Given the description of an element on the screen output the (x, y) to click on. 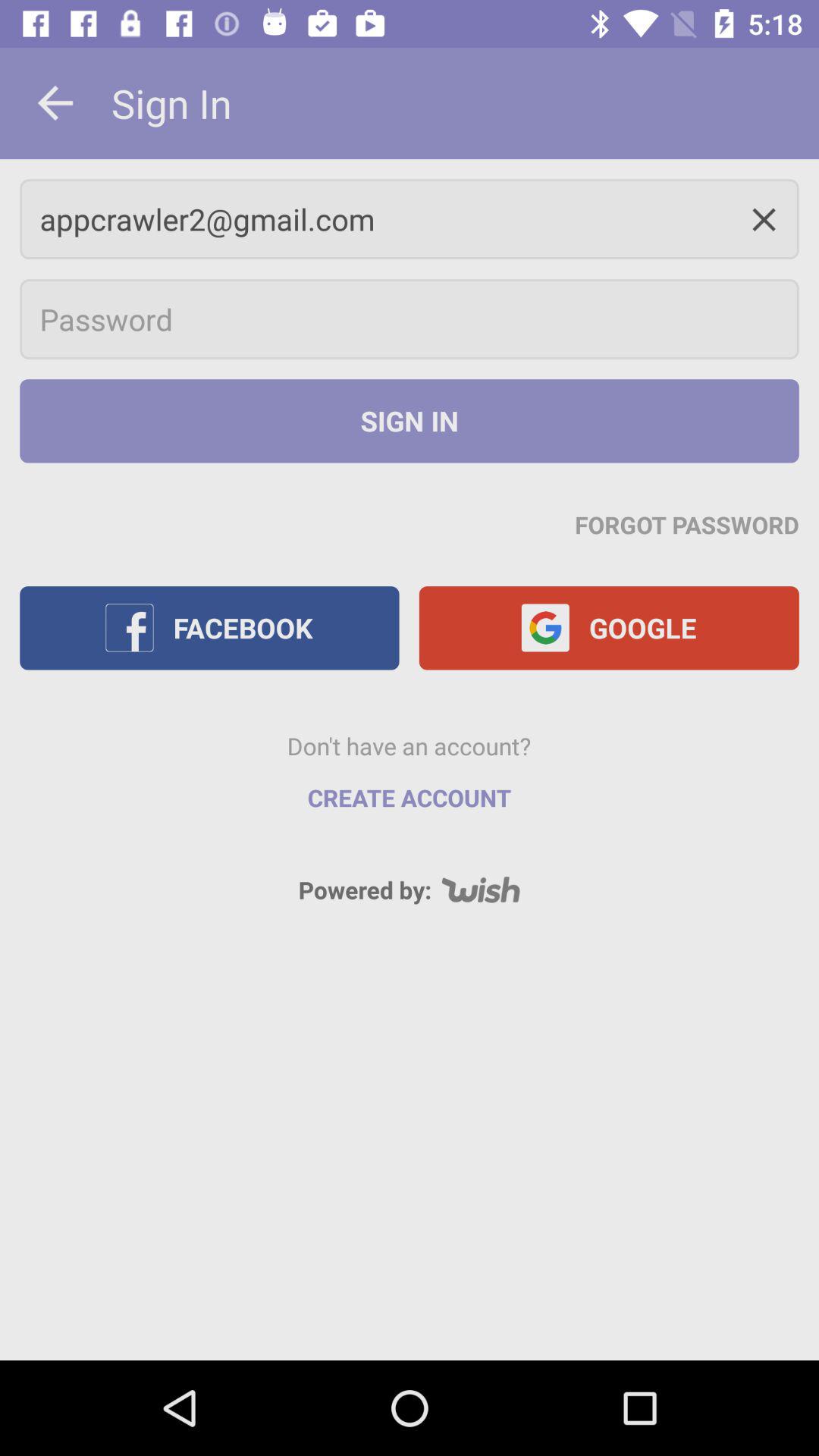
jump until appcrawler2@gmail.com (409, 219)
